Given the description of an element on the screen output the (x, y) to click on. 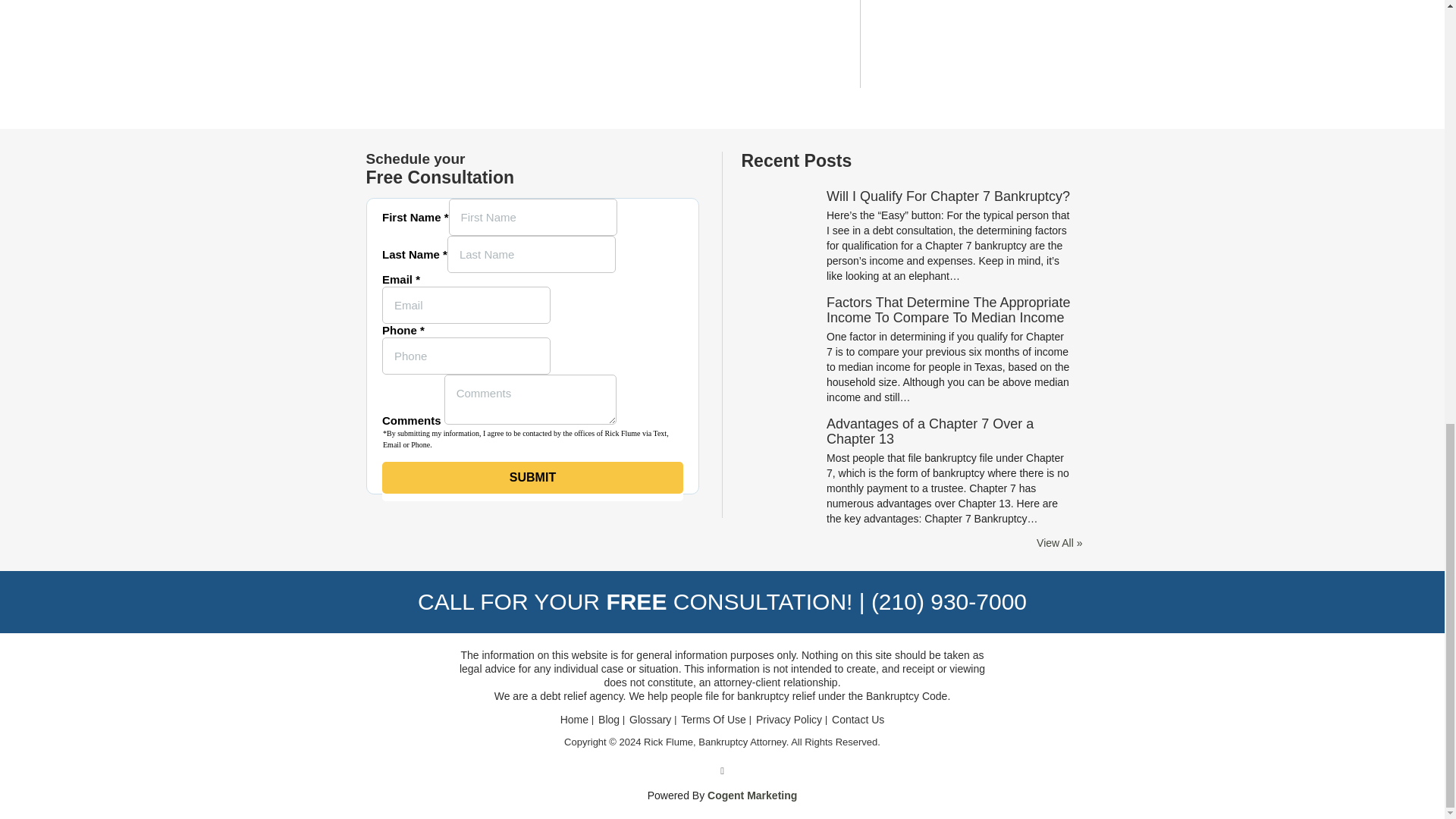
Cogent Marketing (751, 795)
